Given the description of an element on the screen output the (x, y) to click on. 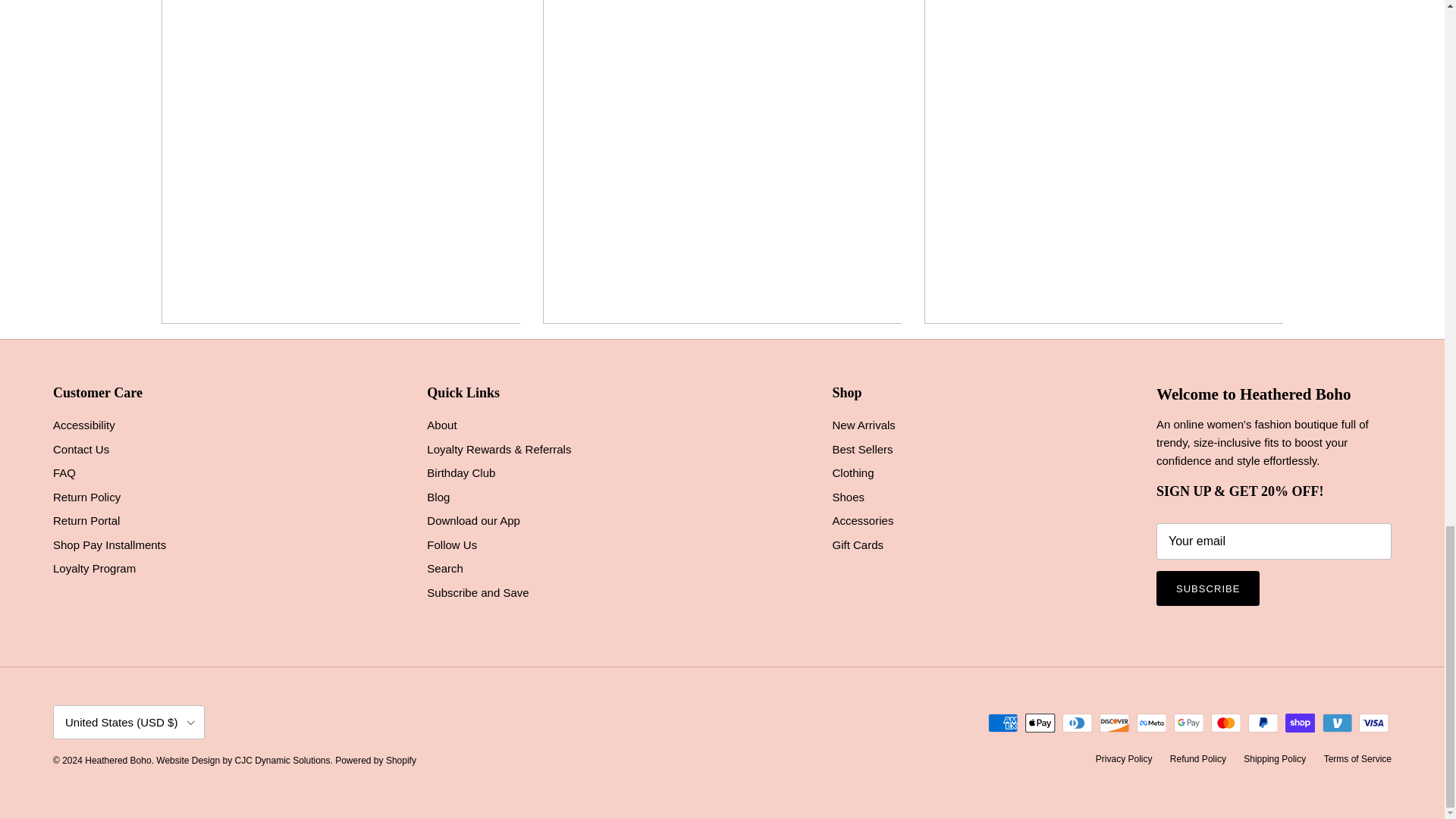
Venmo (1337, 722)
Mastercard (1225, 722)
Apple Pay (1040, 722)
Discover (1114, 722)
PayPal (1262, 722)
Visa (1373, 722)
Meta Pay (1151, 722)
Diners Club (1077, 722)
Google Pay (1188, 722)
Shop Pay (1299, 722)
American Express (1002, 722)
